Given the description of an element on the screen output the (x, y) to click on. 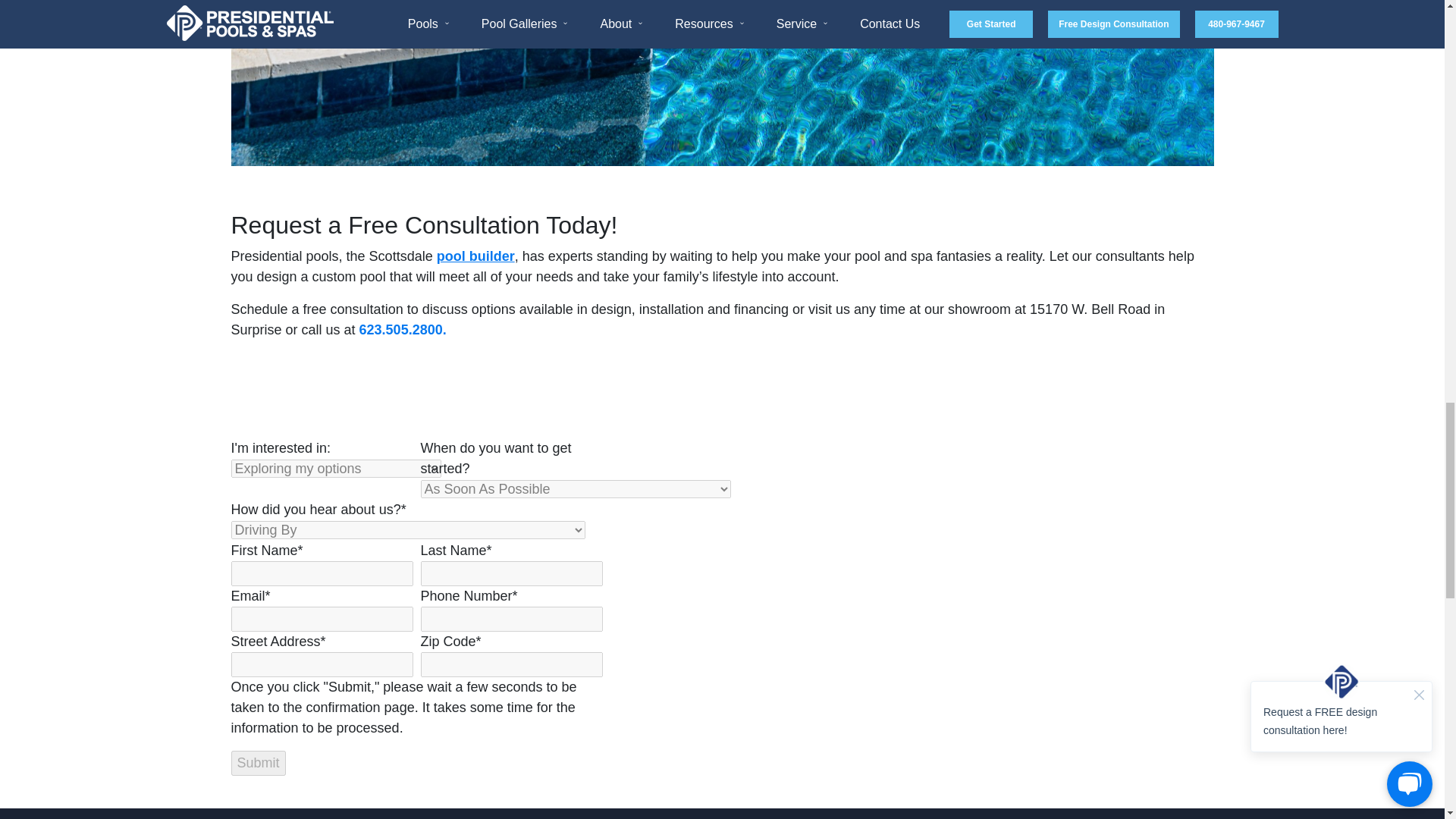
Submit (257, 763)
